Given the description of an element on the screen output the (x, y) to click on. 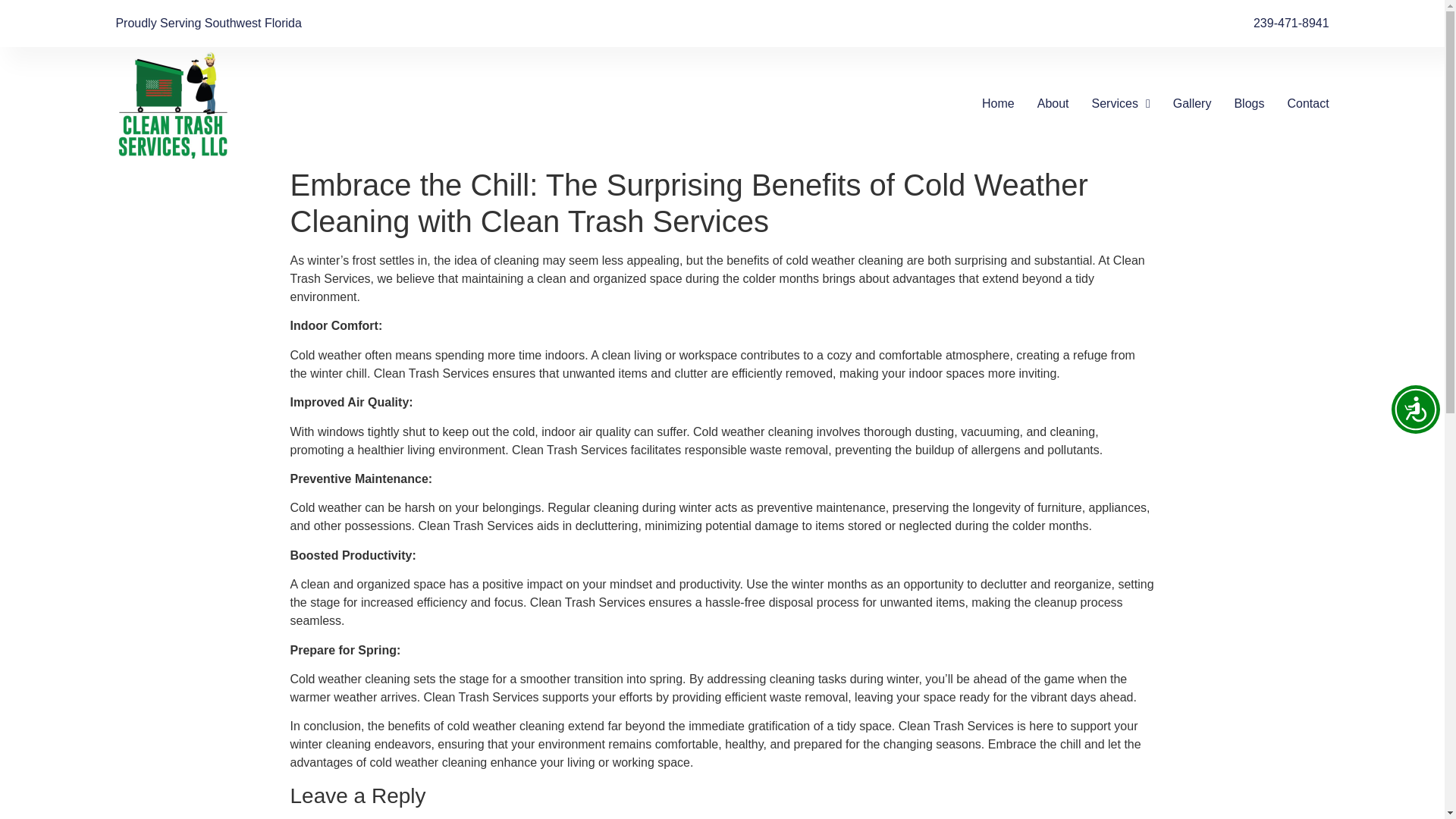
Services (1121, 103)
Blogs (1248, 103)
239-471-8941 (1291, 23)
Gallery (1192, 103)
Contact (1307, 103)
Home (997, 103)
Clean Trash Services Logo (181, 103)
About (1052, 103)
Accessibility Menu (1415, 409)
